Given the description of an element on the screen output the (x, y) to click on. 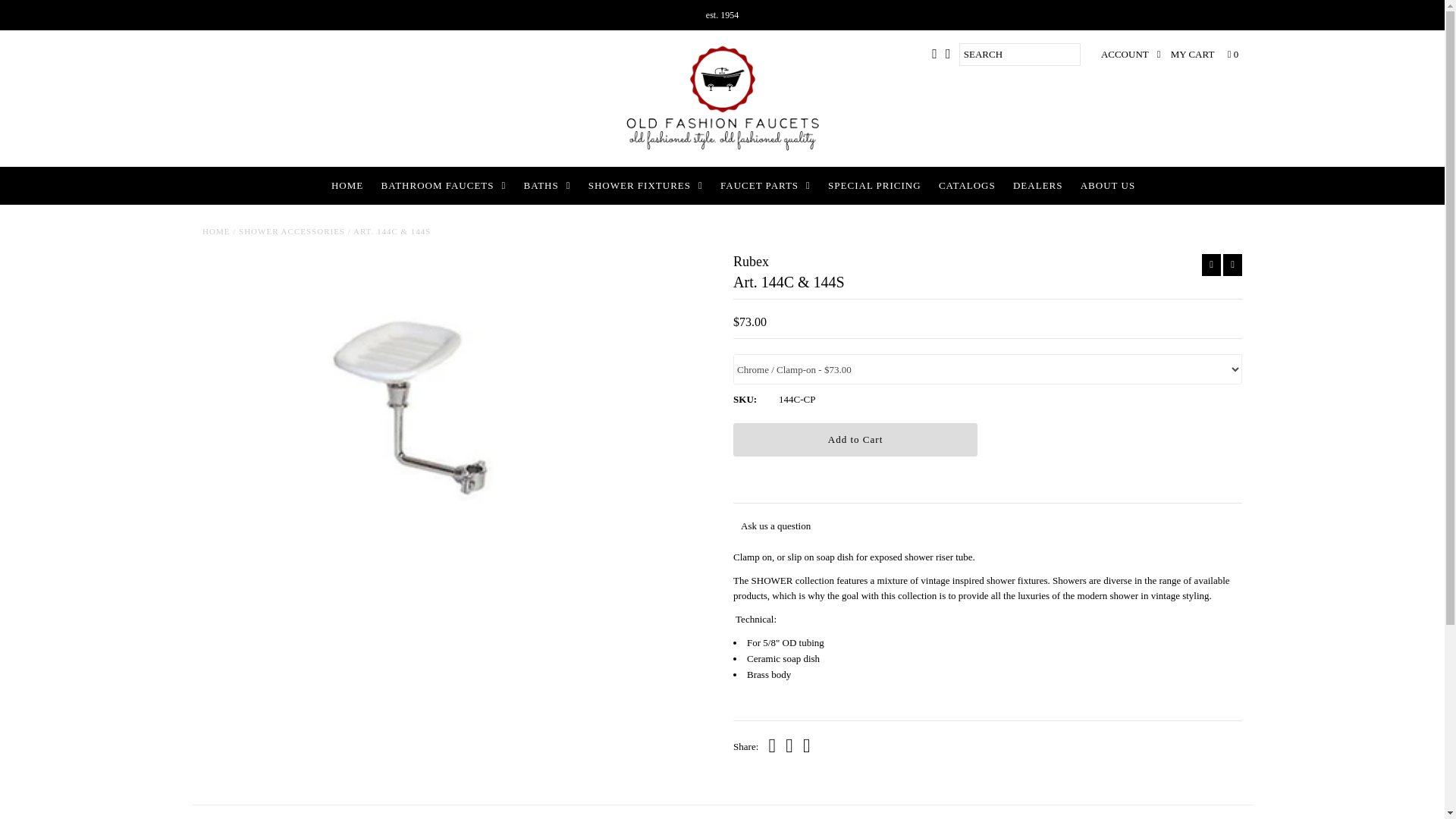
MY CART   0 (1204, 54)
ACCOUNT (1130, 54)
Home (216, 230)
est. 1954 (722, 14)
Add to Cart (854, 439)
BATHROOM FAUCETS (443, 185)
HOME (347, 185)
